Given the description of an element on the screen output the (x, y) to click on. 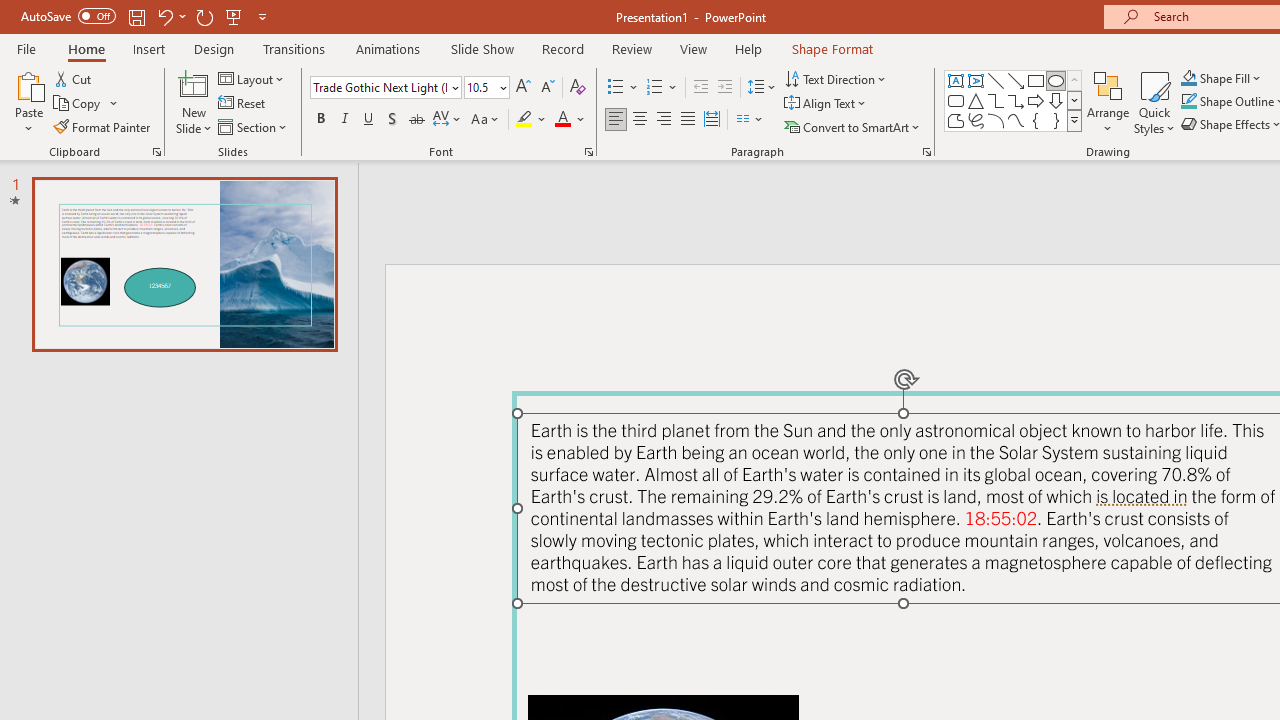
Shape Fill Aqua, Accent 2 (1188, 78)
